Given the description of an element on the screen output the (x, y) to click on. 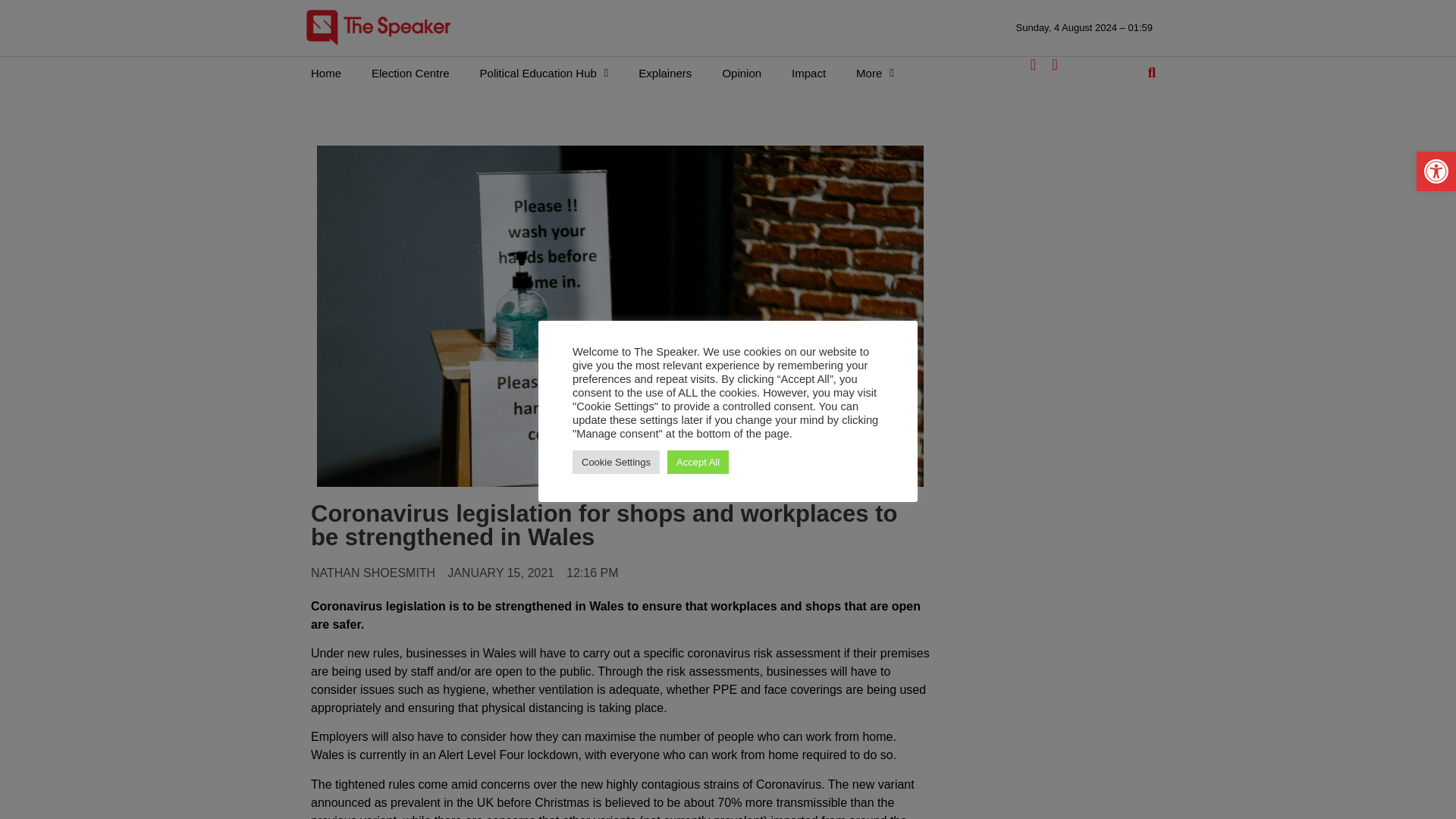
Explainers (664, 73)
Election Centre (410, 73)
More (874, 73)
The Speaker (378, 27)
Opinion (741, 73)
Home (325, 73)
Political Education Hub (544, 73)
Impact (808, 73)
Accessibility Tools (1435, 170)
